Given the description of an element on the screen output the (x, y) to click on. 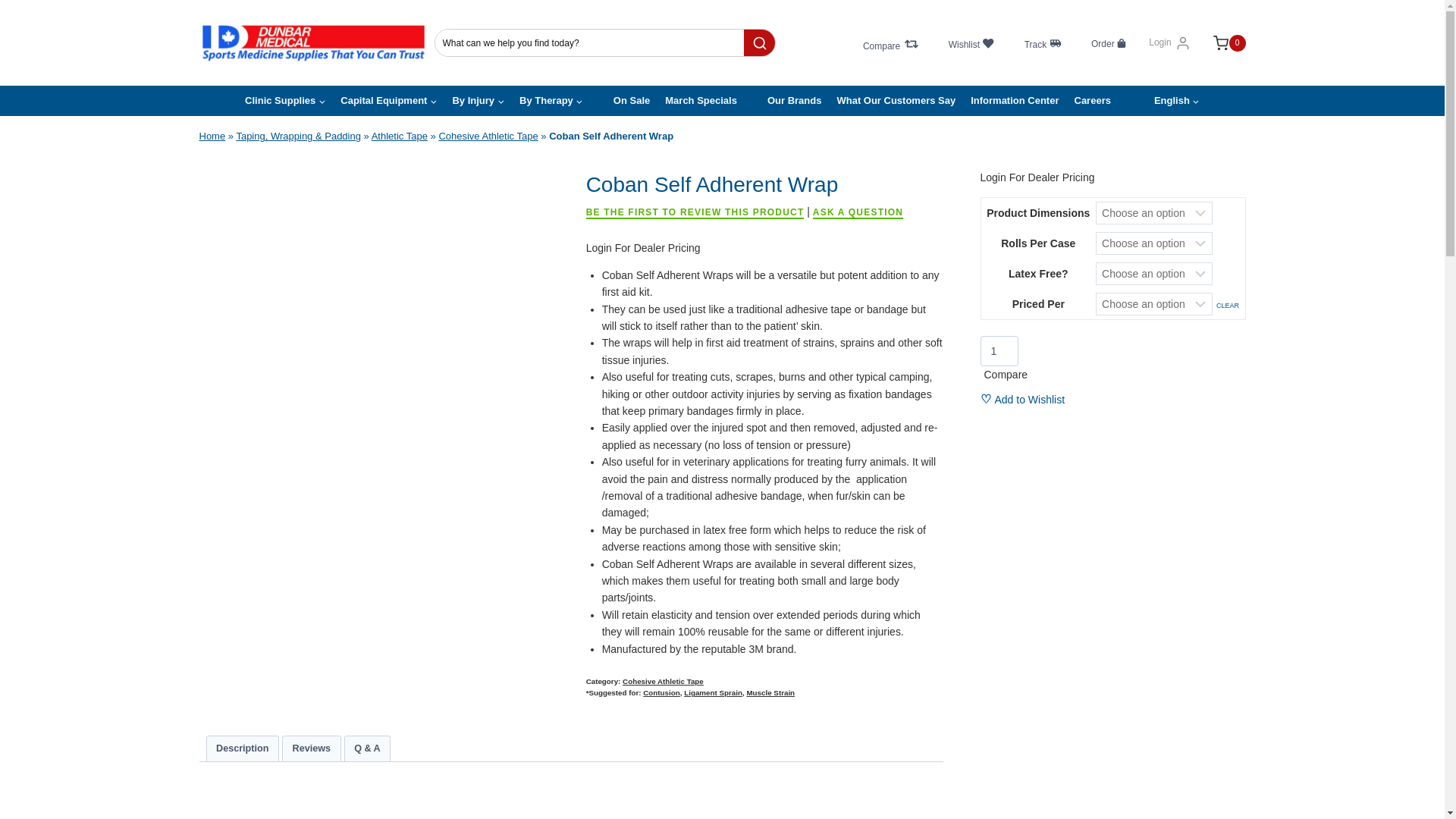
English (1162, 100)
Wishlist (971, 42)
Login (1168, 42)
What can we help you find today? (589, 42)
0 (1222, 43)
1 (998, 350)
Compare (890, 43)
Order (1108, 42)
What can we help you find today? (589, 42)
Track (1042, 42)
Clinic Supplies (285, 100)
